Given the description of an element on the screen output the (x, y) to click on. 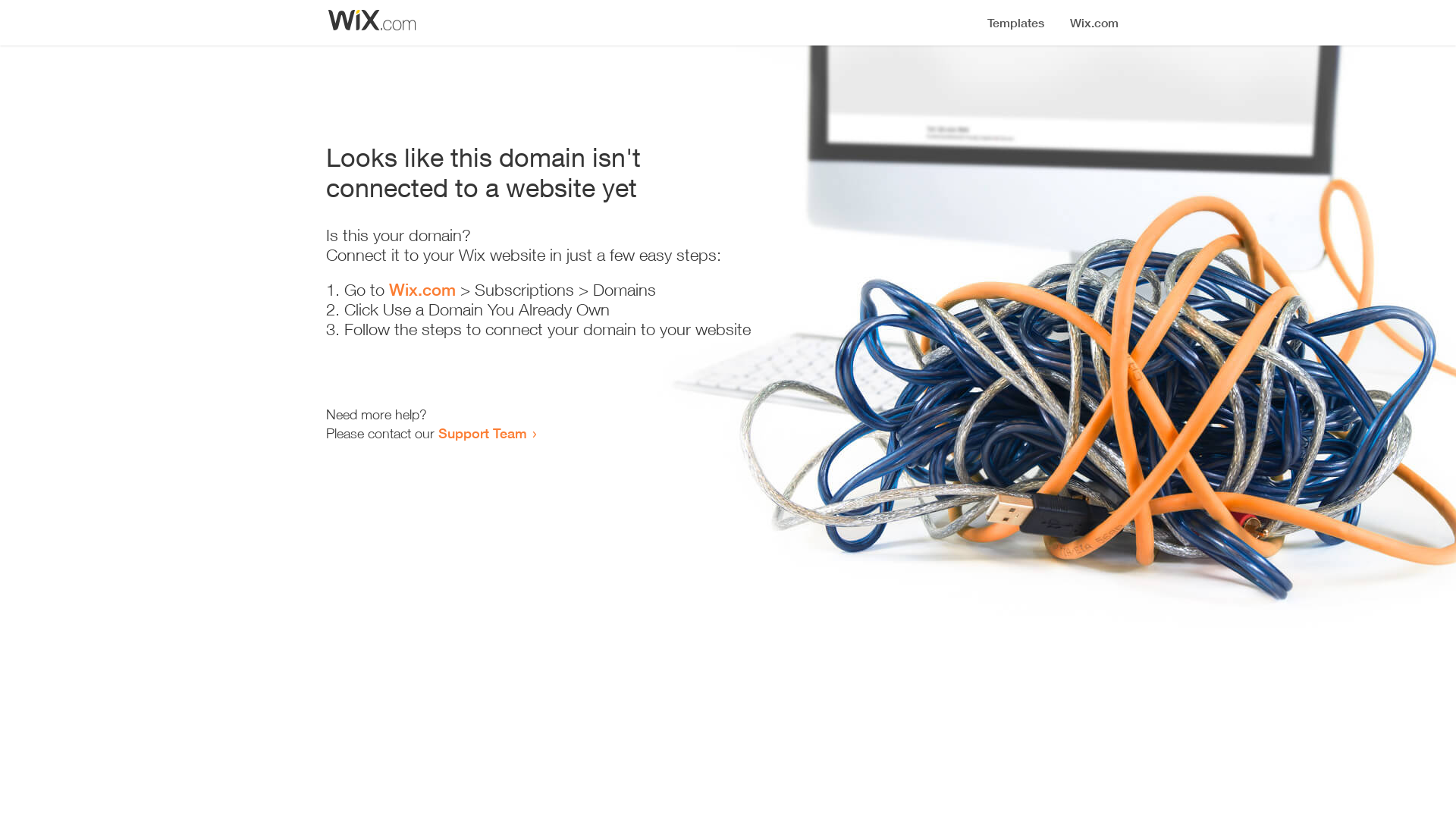
Wix.com Element type: text (422, 289)
Support Team Element type: text (482, 432)
